Given the description of an element on the screen output the (x, y) to click on. 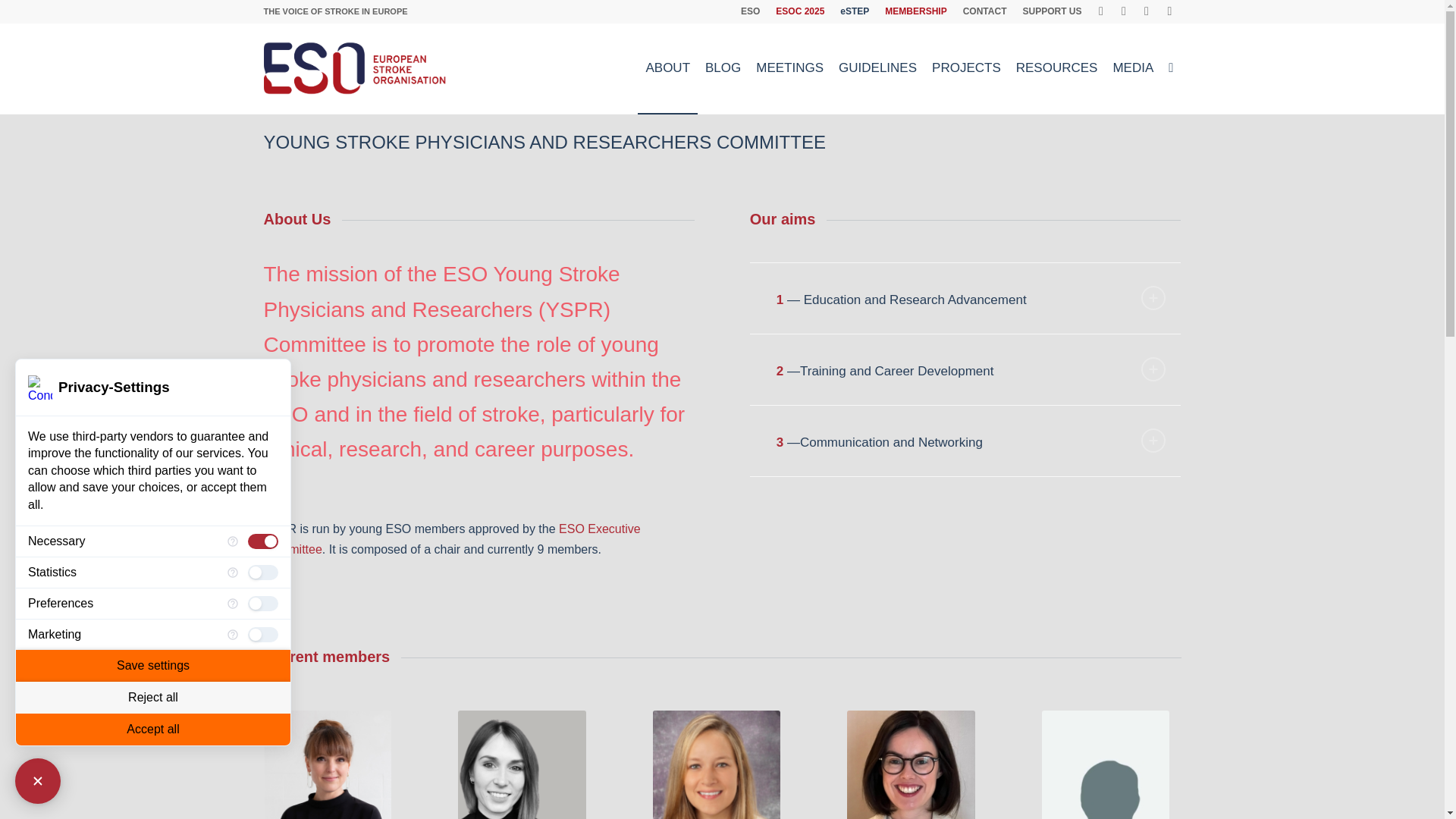
SUPPORT US (1051, 11)
LinkedIn (1169, 11)
Ellis (327, 764)
CONTACT (984, 11)
MEMBERSHIP (915, 11)
Accept all (152, 729)
X (1124, 11)
Save settings (152, 665)
Reject all (152, 697)
ESO (750, 11)
MEETINGS (789, 67)
ESOC 2025 (800, 11)
ESO European Stroke Organisation (356, 67)
eSTEP (854, 11)
